Given the description of an element on the screen output the (x, y) to click on. 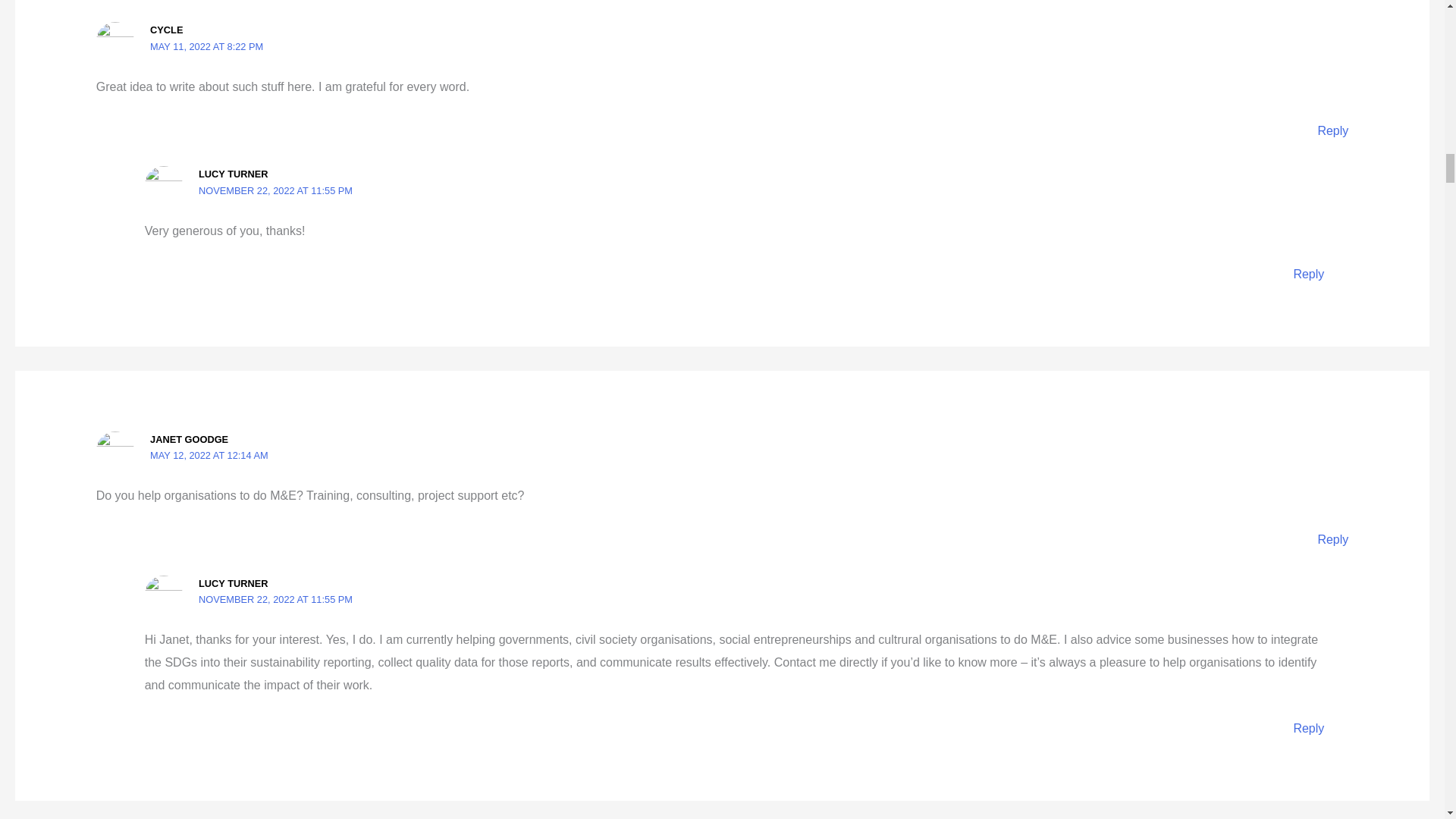
Reply (1332, 130)
Reply (1332, 539)
MAY 11, 2022 AT 8:22 PM (206, 46)
Reply (1307, 727)
NOVEMBER 22, 2022 AT 11:55 PM (275, 190)
Reply (1307, 273)
NOVEMBER 22, 2022 AT 11:55 PM (275, 599)
MAY 12, 2022 AT 12:14 AM (208, 455)
